Given the description of an element on the screen output the (x, y) to click on. 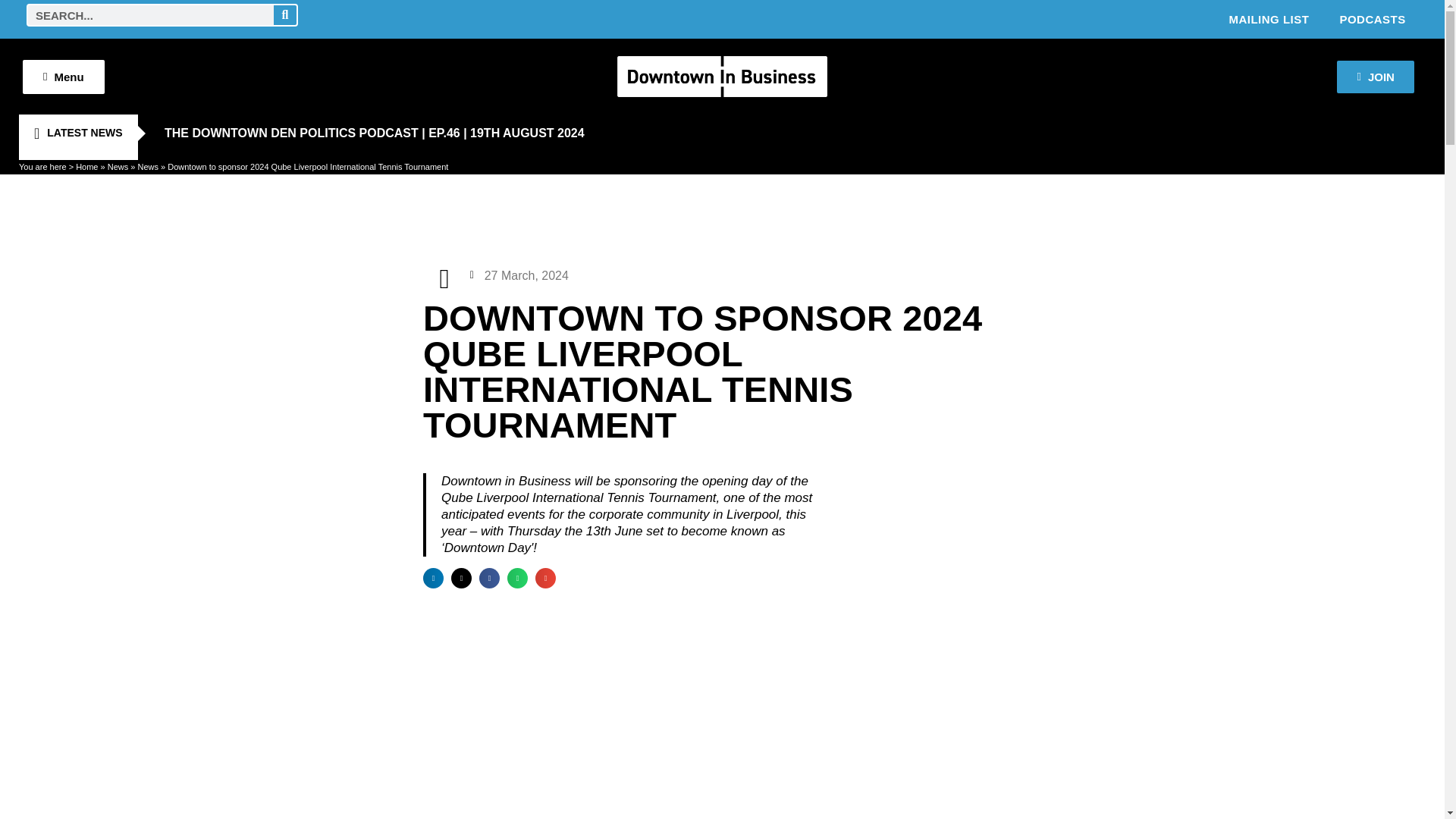
Menu (63, 75)
PODCASTS (1372, 18)
27 March, 2024 (519, 275)
Home (86, 166)
MAILING LIST (1267, 18)
Skip to content (11, 31)
News (118, 166)
JOIN (1374, 76)
News (147, 166)
LATEST NEWS (77, 133)
